Given the description of an element on the screen output the (x, y) to click on. 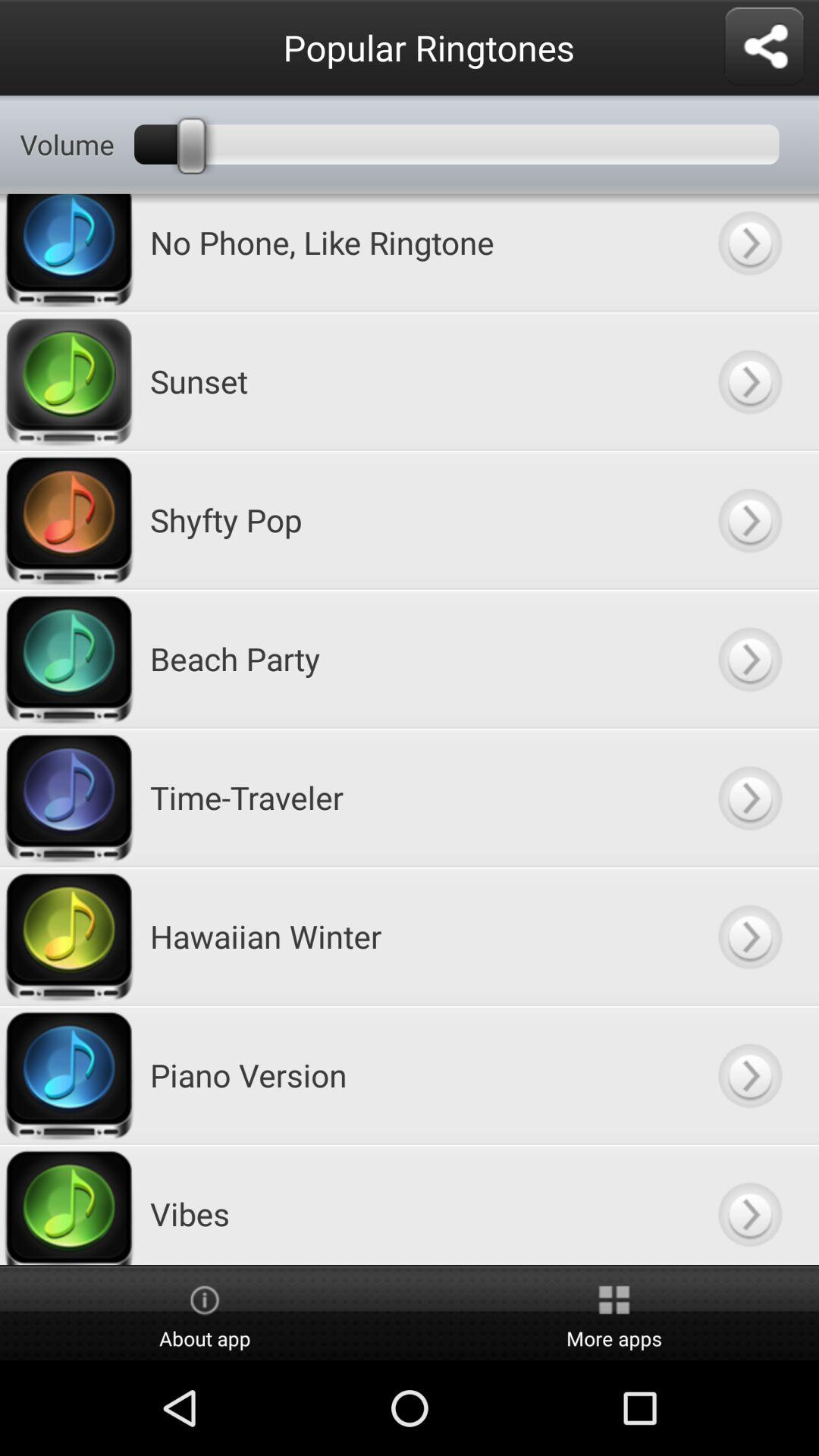
open sound (749, 252)
